Given the description of an element on the screen output the (x, y) to click on. 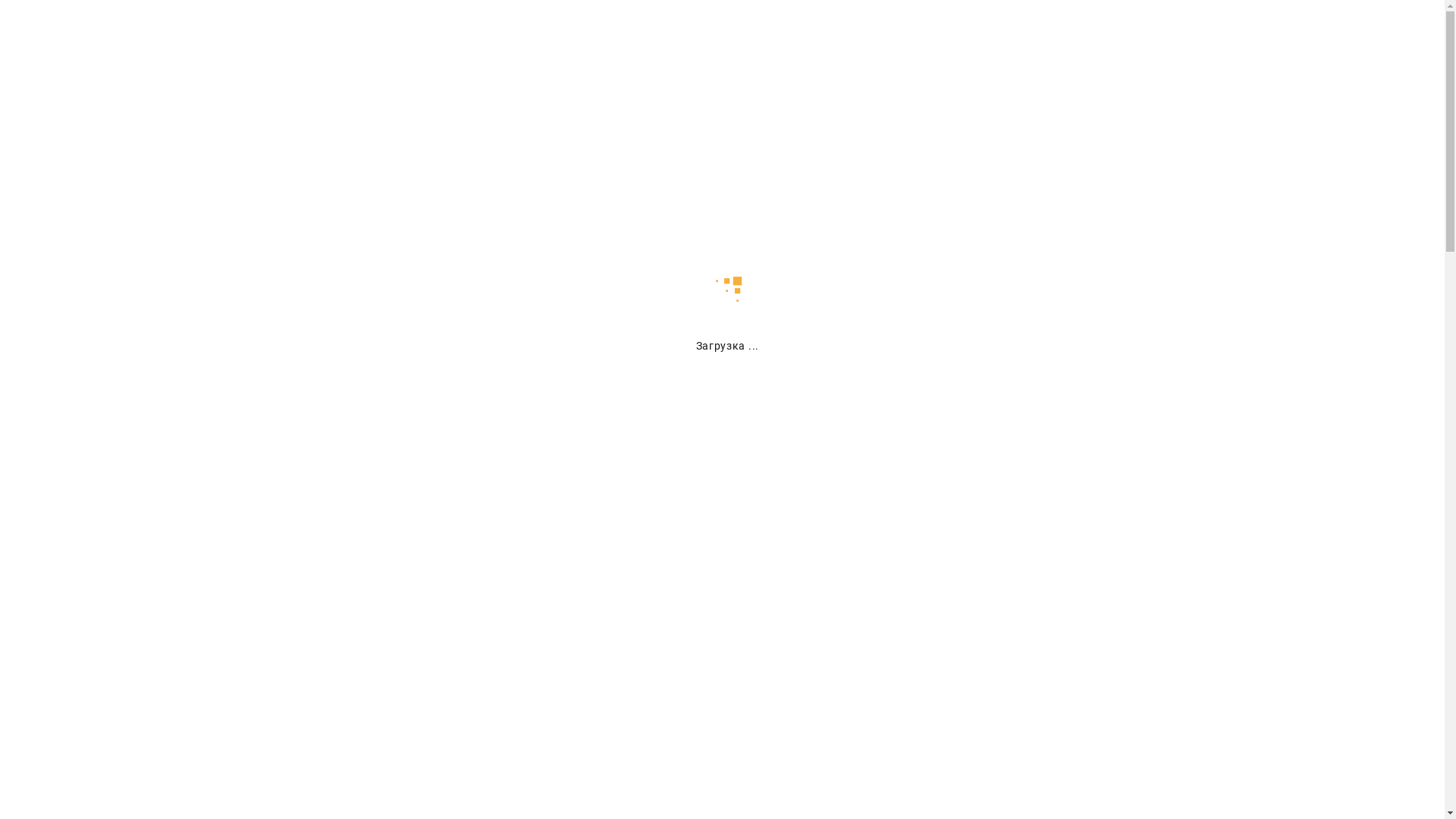
+375 29 656 23 67 Element type: text (823, 43)
08:00 - 22:00 Element type: text (1023, 43)
